Given the description of an element on the screen output the (x, y) to click on. 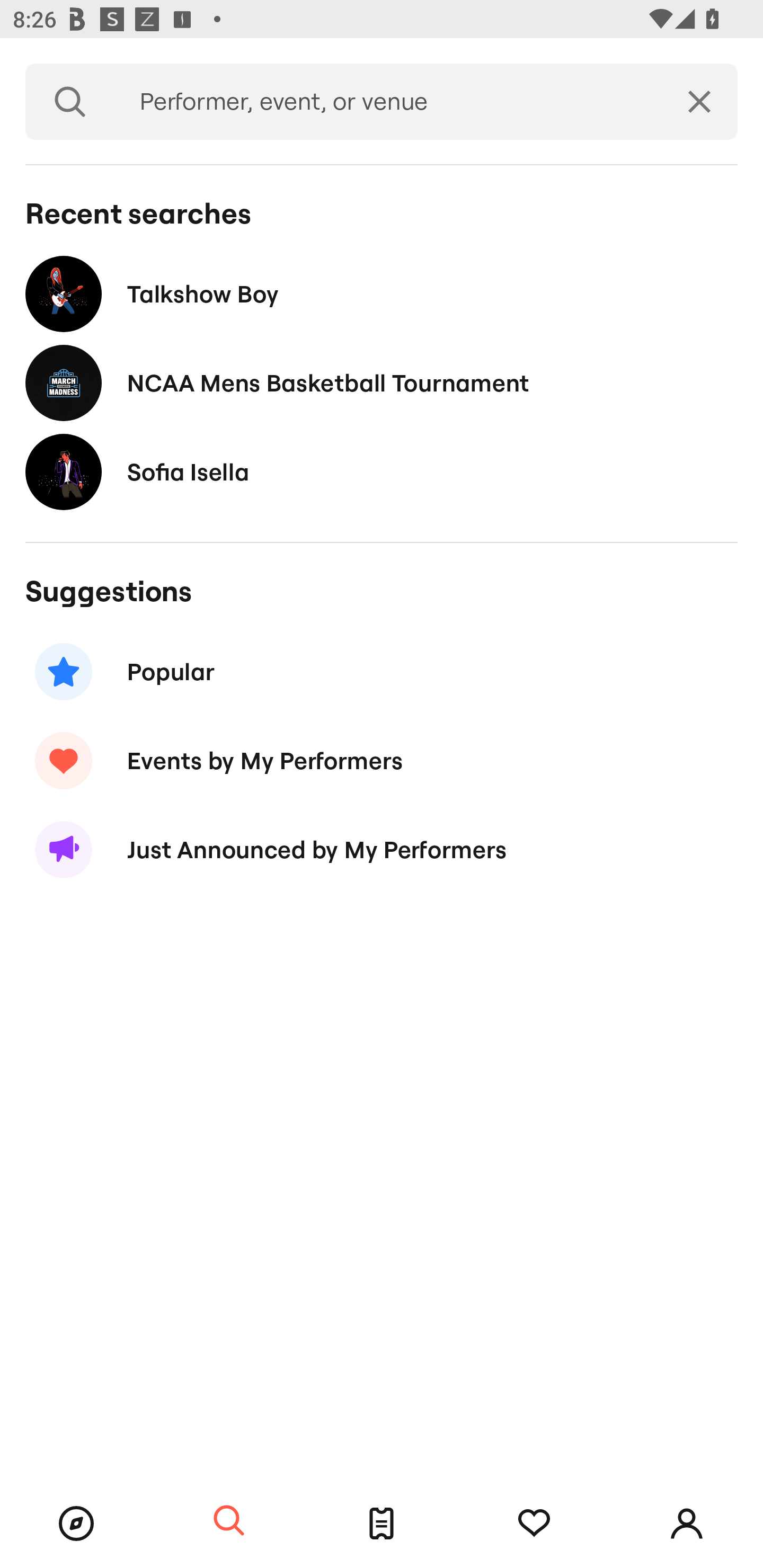
Search (69, 101)
Performer, event, or venue (387, 101)
Clear (699, 101)
Talkshow Boy (381, 293)
NCAA Mens Basketball Tournament (381, 383)
Sofia Isella (381, 471)
Popular (381, 671)
Events by My Performers (381, 760)
Just Announced by My Performers (381, 849)
Browse (76, 1523)
Search (228, 1521)
Tickets (381, 1523)
Tracking (533, 1523)
Account (686, 1523)
